Given the description of an element on the screen output the (x, y) to click on. 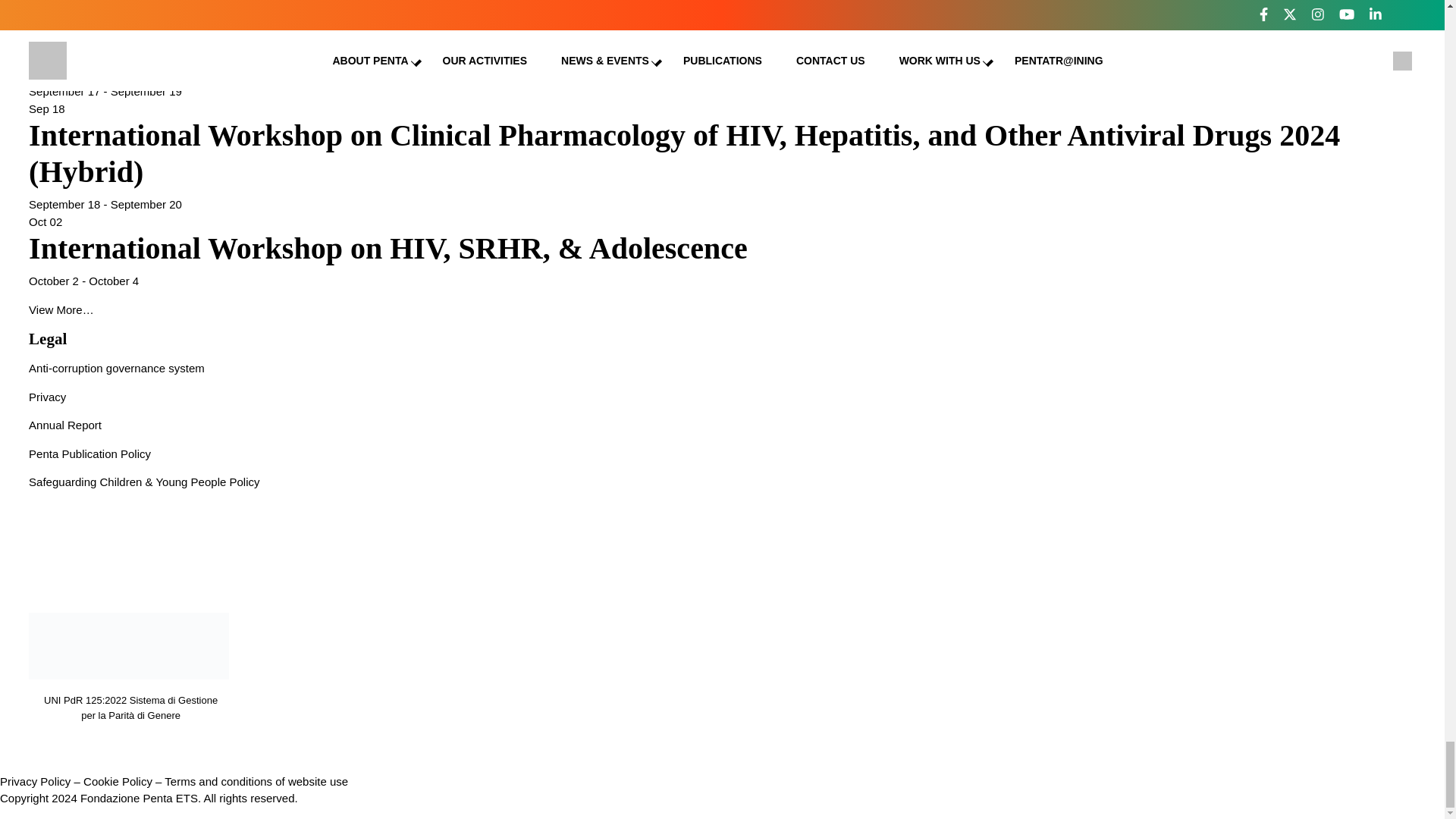
Help us improve our website! (129, 3)
